Given the description of an element on the screen output the (x, y) to click on. 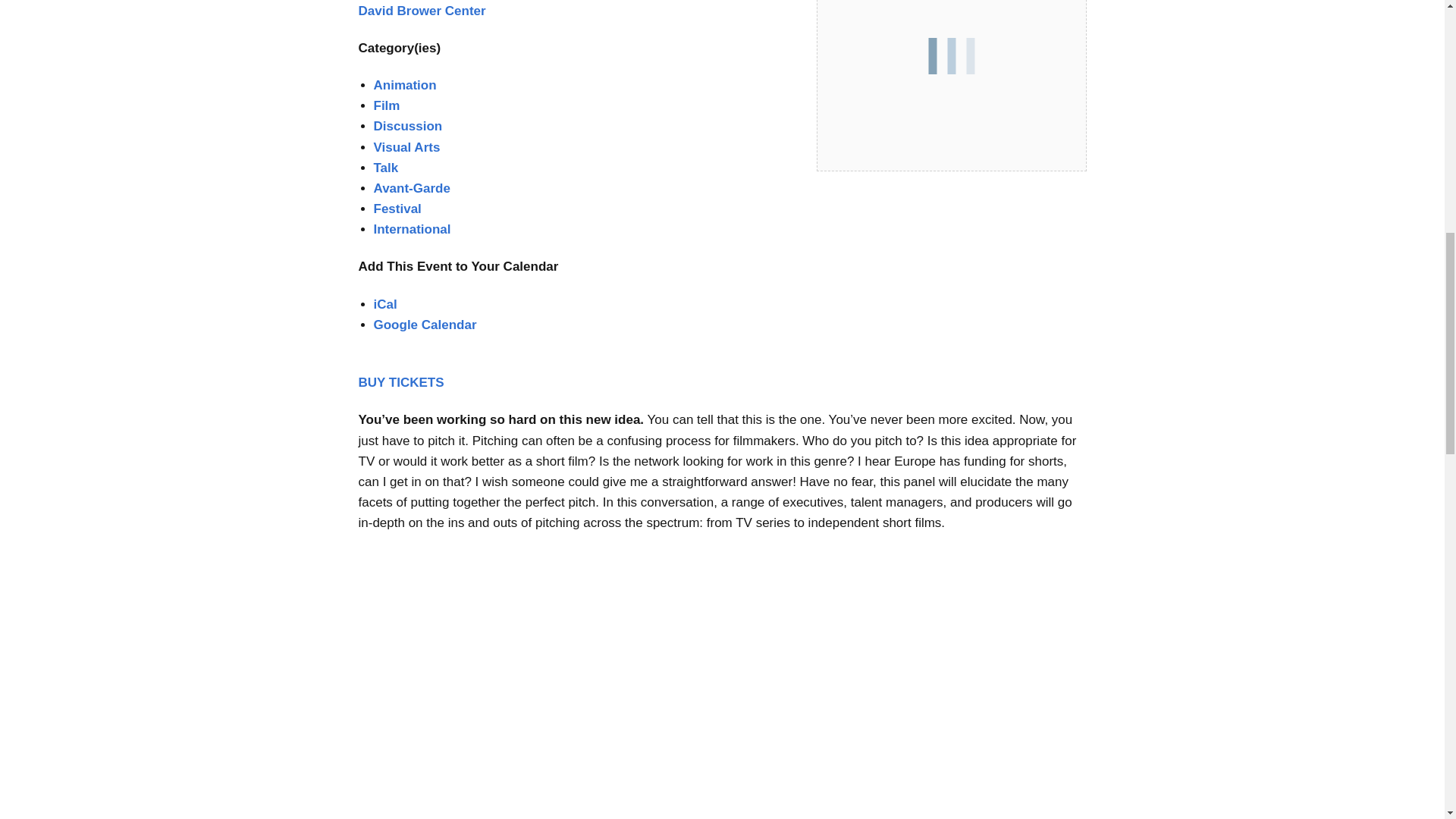
Festival (396, 208)
Avant-Garde (410, 187)
Film (385, 105)
Google Calendar (424, 324)
Animation (403, 84)
David Brower Center (421, 11)
iCal (384, 304)
Visual Arts (405, 147)
Discussion (407, 125)
International (410, 228)
Talk (384, 167)
BUY TICKETS (401, 382)
